Given the description of an element on the screen output the (x, y) to click on. 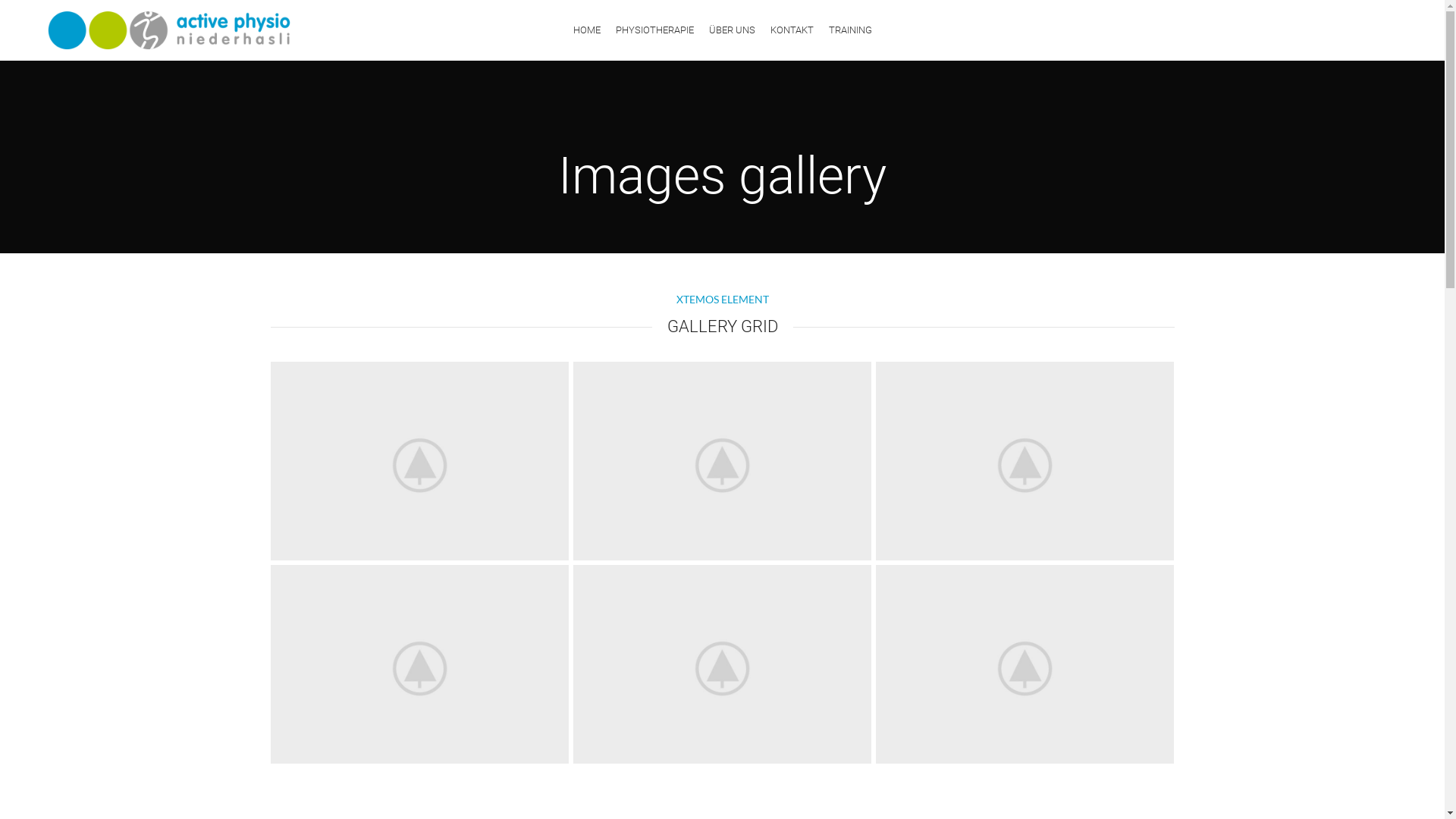
HOME Element type: text (586, 30)
TRAINING Element type: text (849, 30)
PHYSIOTHERAPIE Element type: text (654, 30)
KONTAKT Element type: text (791, 30)
